Given the description of an element on the screen output the (x, y) to click on. 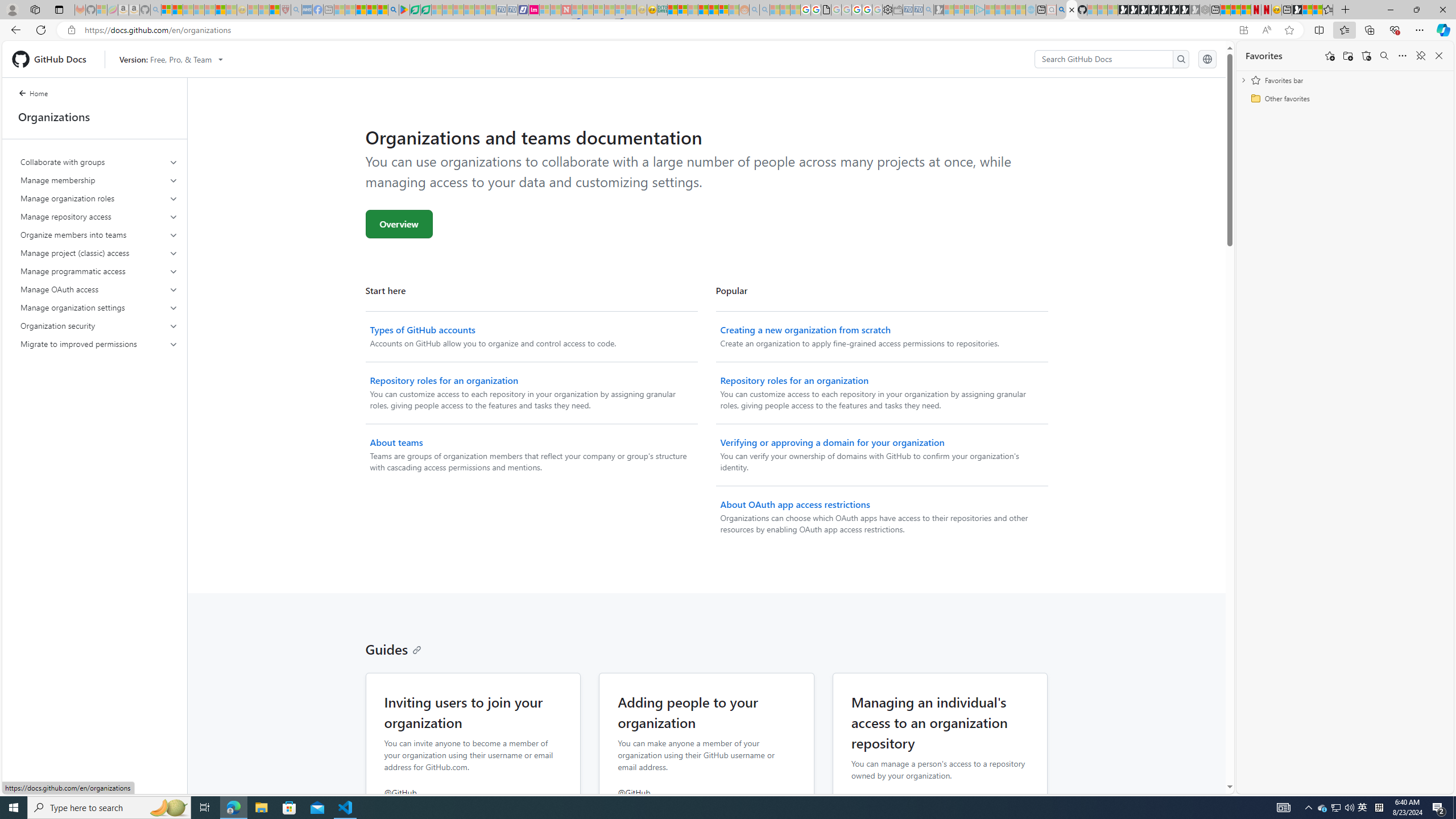
Pets - MSN (371, 9)
Kinda Frugal - MSN (713, 9)
Manage programmatic access (99, 271)
Manage organization settings (99, 307)
Unpin favorites (1420, 55)
